Given the description of an element on the screen output the (x, y) to click on. 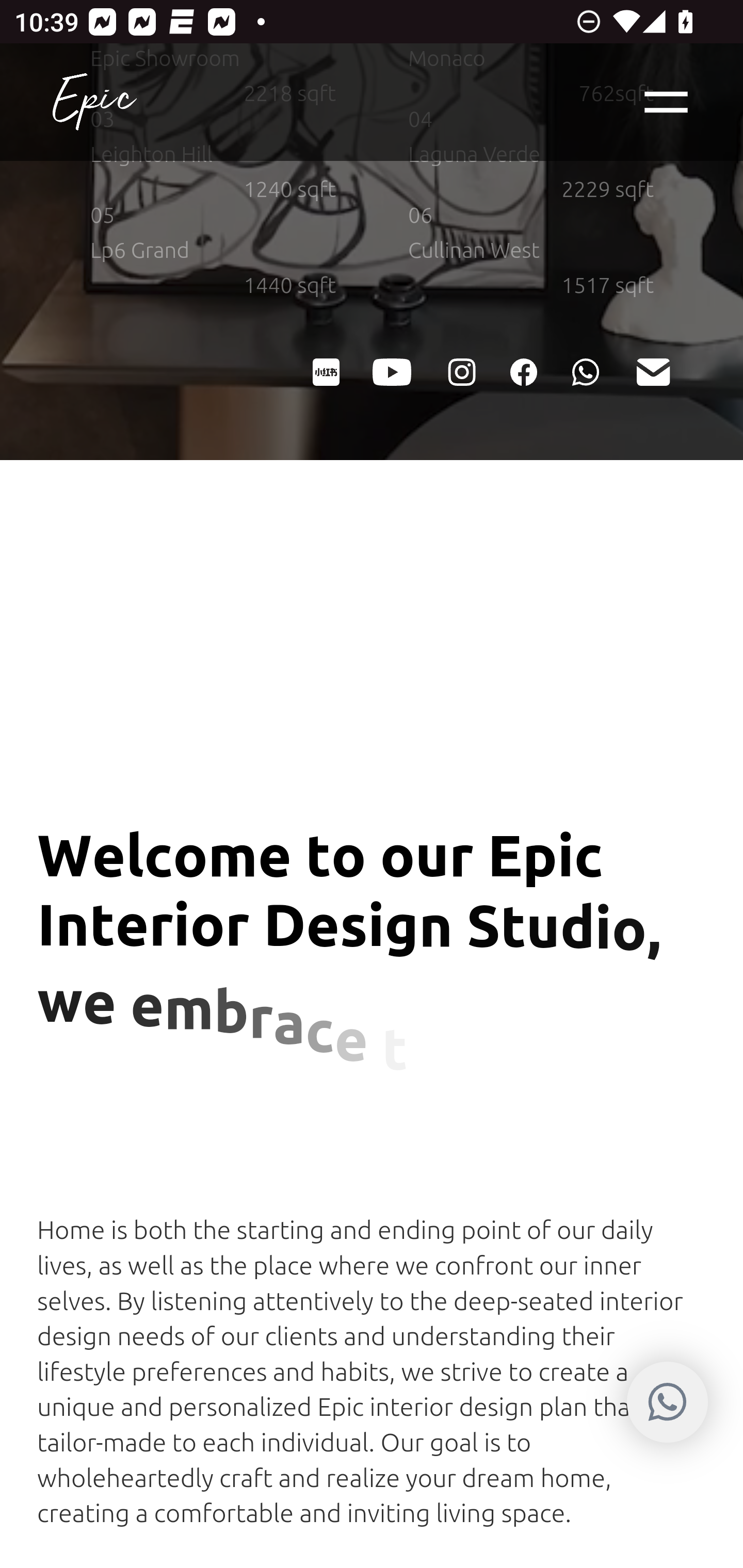
en (94, 102)
menu (666, 102)
5abbc35ee8ac2b3e07aaf880 (325, 370)
@_epicinterior593 (392, 370)
epicinteriordesignltd (460, 370)
profile (523, 370)
85297019887 (585, 370)
mailto:info@epicinterior (652, 370)
85297019887 (666, 1402)
